Given the description of an element on the screen output the (x, y) to click on. 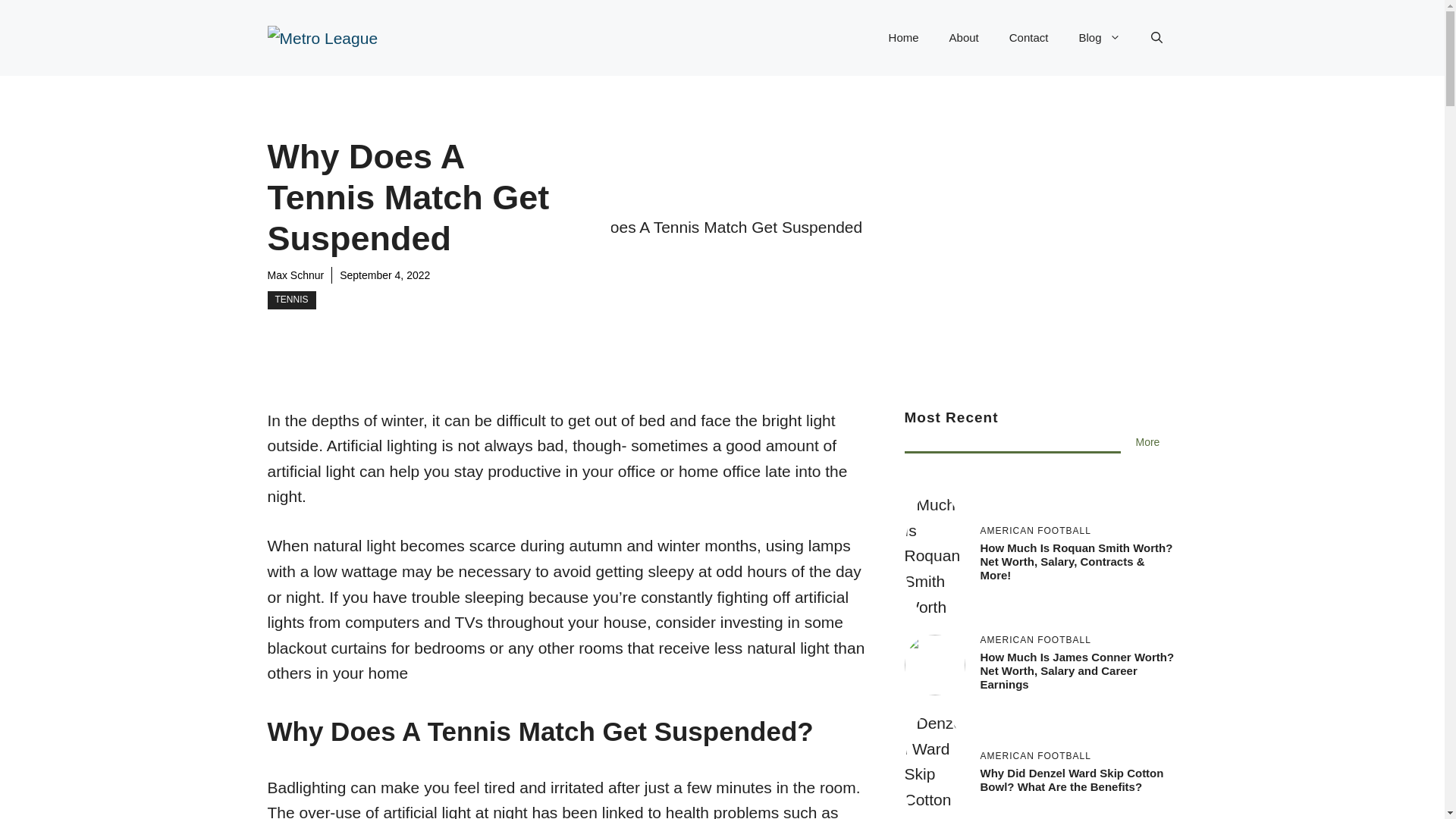
Home (903, 37)
More (1147, 442)
Contact (1029, 37)
About (964, 37)
Blog (1098, 37)
Max Schnur (294, 275)
TENNIS (290, 299)
